Given the description of an element on the screen output the (x, y) to click on. 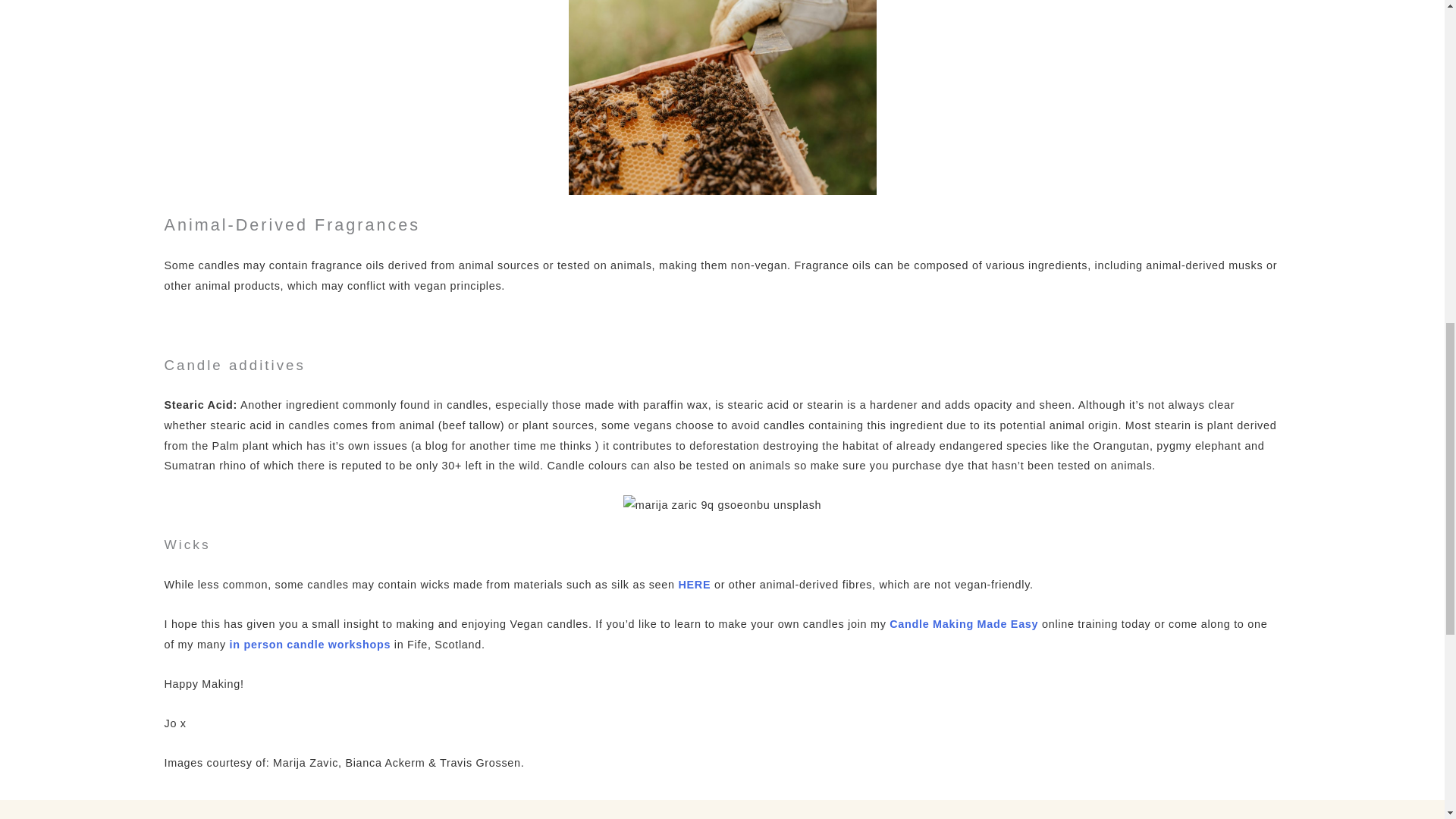
HERE (694, 584)
Candle Making Made Easy (963, 623)
in person candle workshops (310, 644)
